Given the description of an element on the screen output the (x, y) to click on. 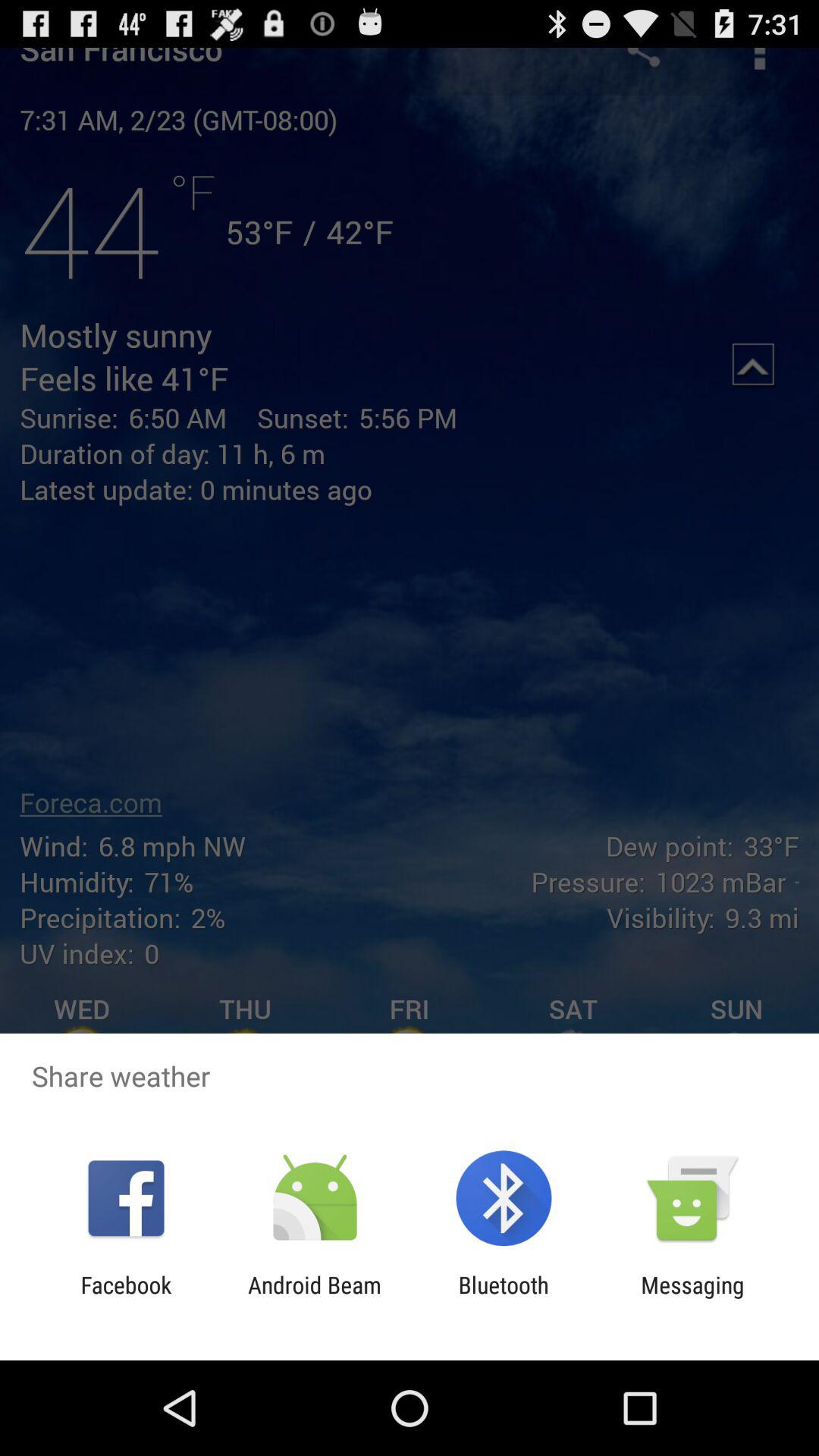
turn off android beam icon (314, 1298)
